Given the description of an element on the screen output the (x, y) to click on. 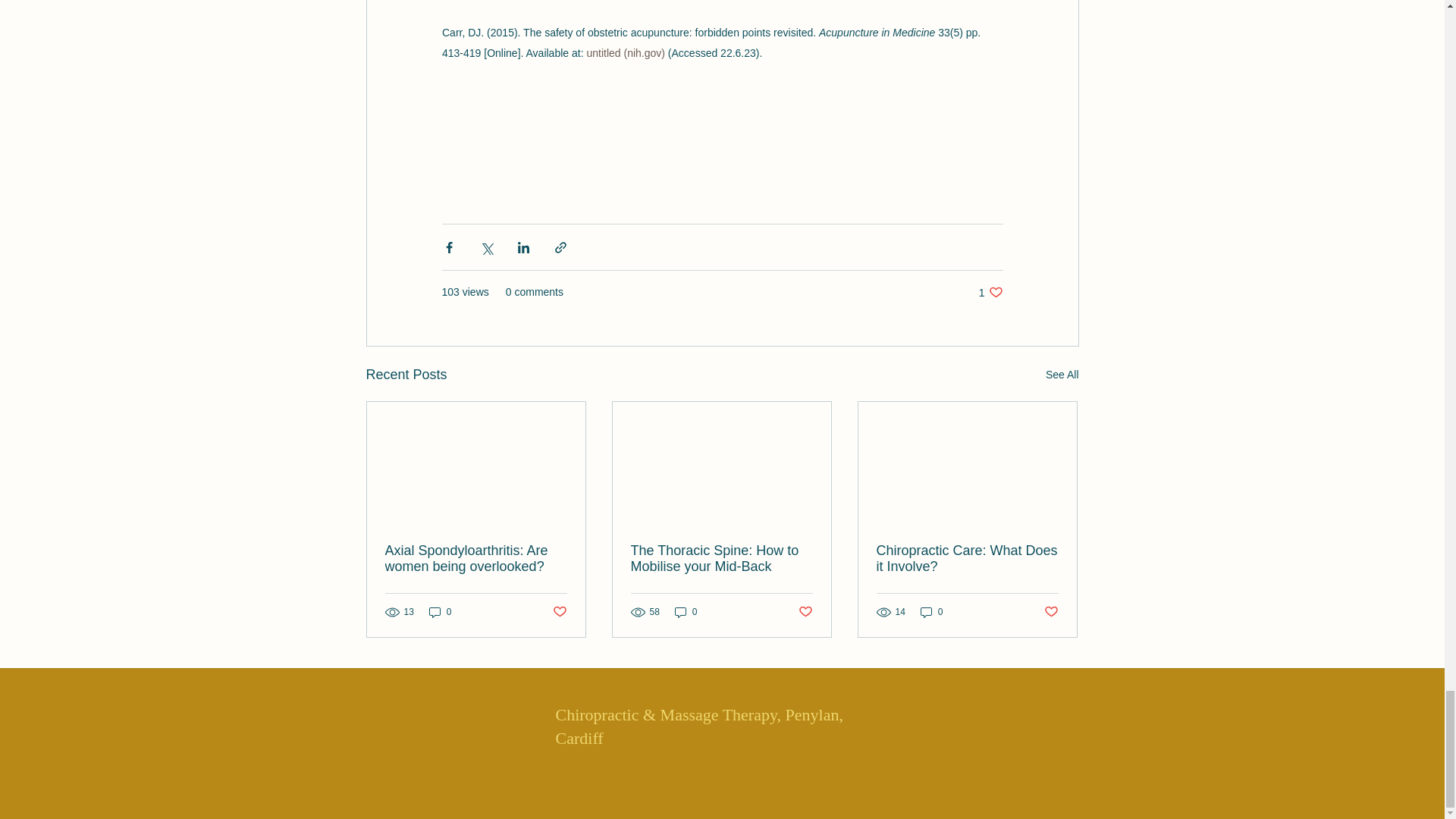
See All (1061, 374)
0 (440, 612)
0 (685, 612)
Post not marked as liked (1050, 611)
The Thoracic Spine: How to Mobilise your Mid-Back (721, 558)
Post not marked as liked (804, 611)
0 (931, 612)
Axial Spondyloarthritis: Are women being overlooked? (476, 558)
Chiropractic Care: What Does it Involve? (967, 558)
Post not marked as liked (990, 292)
